Given the description of an element on the screen output the (x, y) to click on. 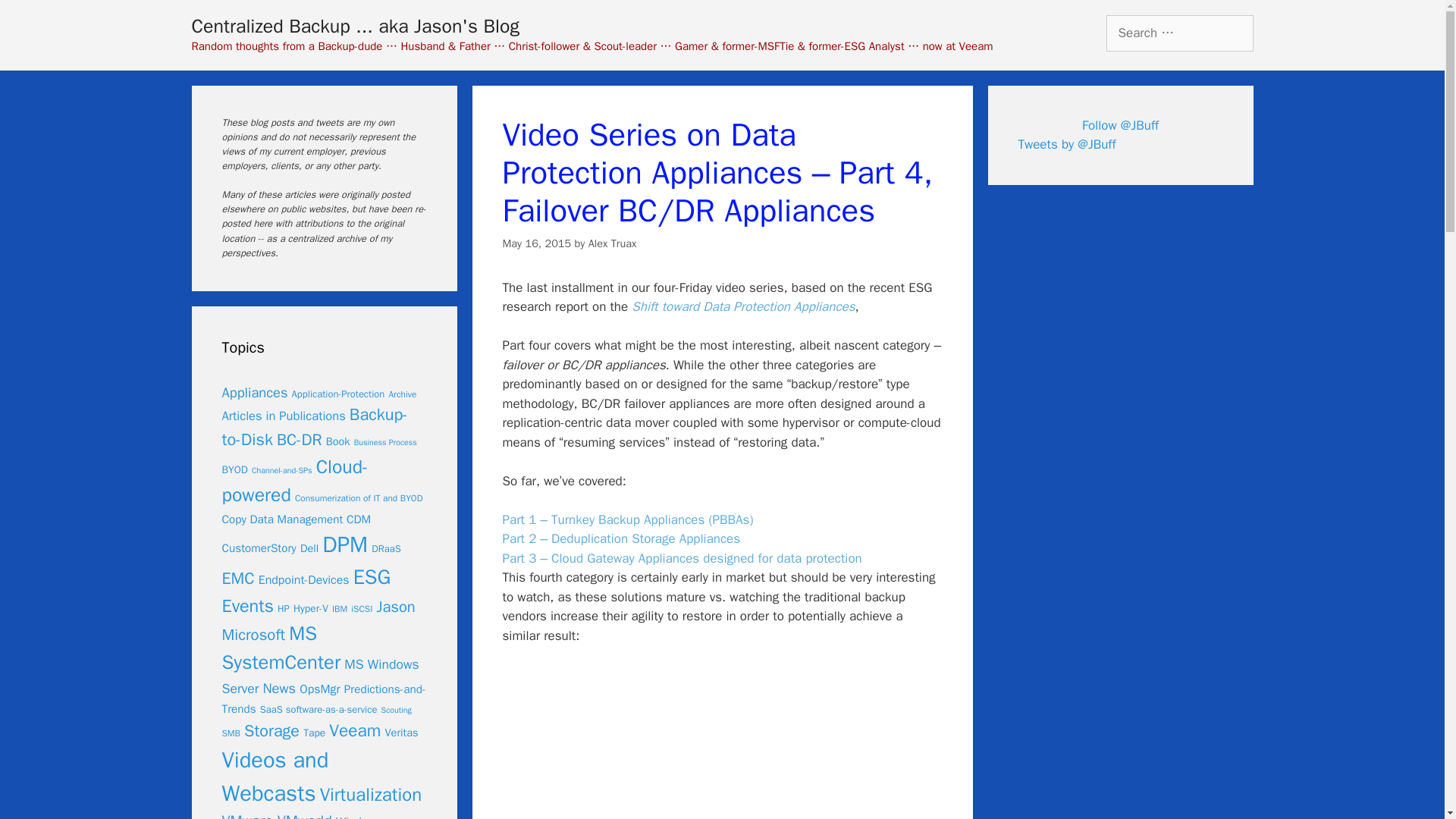
ESG (372, 576)
Shift toward Data Protection Appliances (742, 306)
BYOD (234, 469)
Channel-and-SPs (282, 470)
Endpoint-Devices (304, 580)
EMC (237, 578)
Centralized Backup ... aka Jason's Blog (354, 25)
Book (338, 440)
CustomerStory (258, 548)
Search (35, 18)
